Given the description of an element on the screen output the (x, y) to click on. 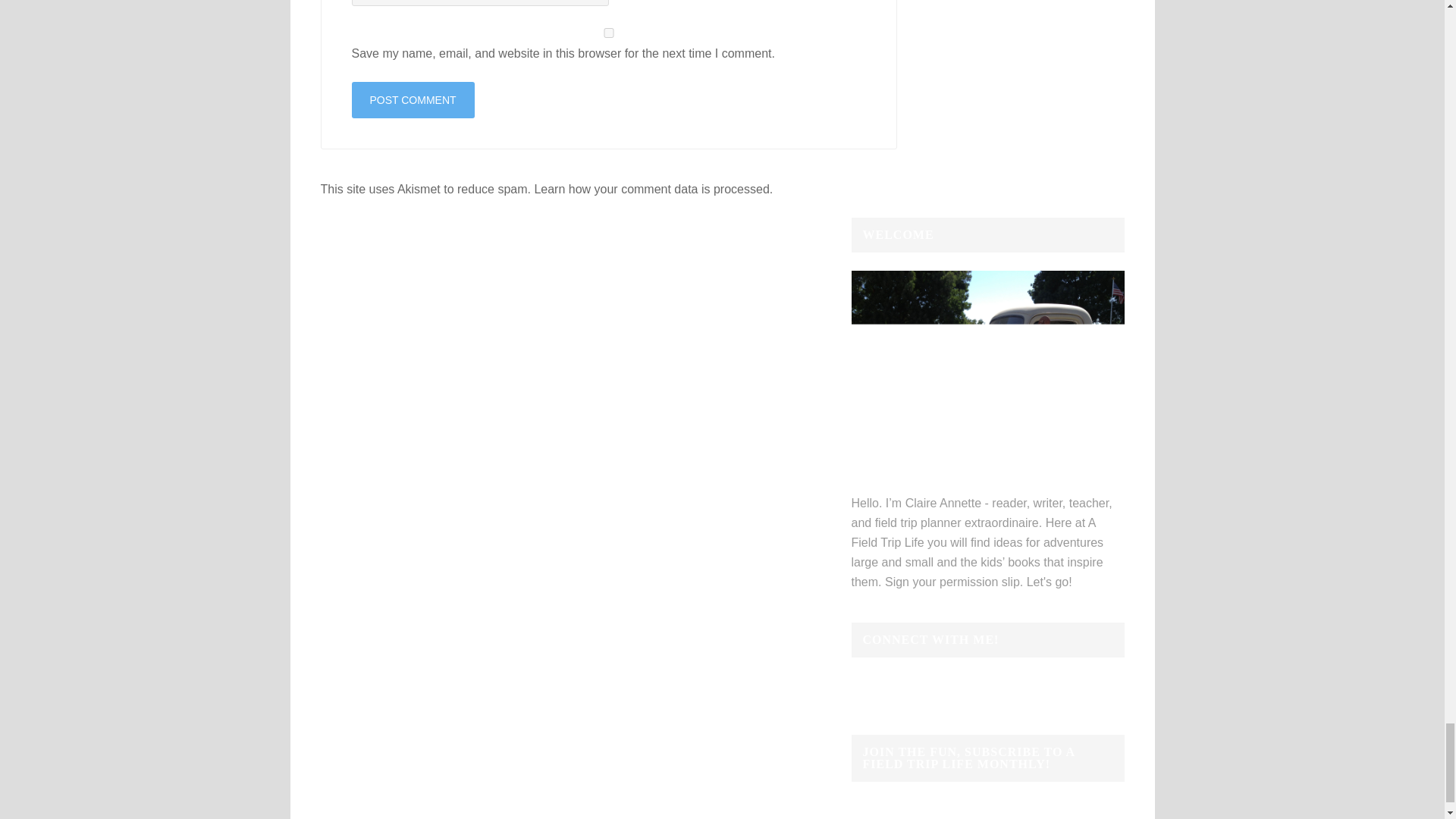
yes (609, 32)
Learn how your comment data is processed (651, 188)
Post Comment (413, 99)
Post Comment (413, 99)
